Given the description of an element on the screen output the (x, y) to click on. 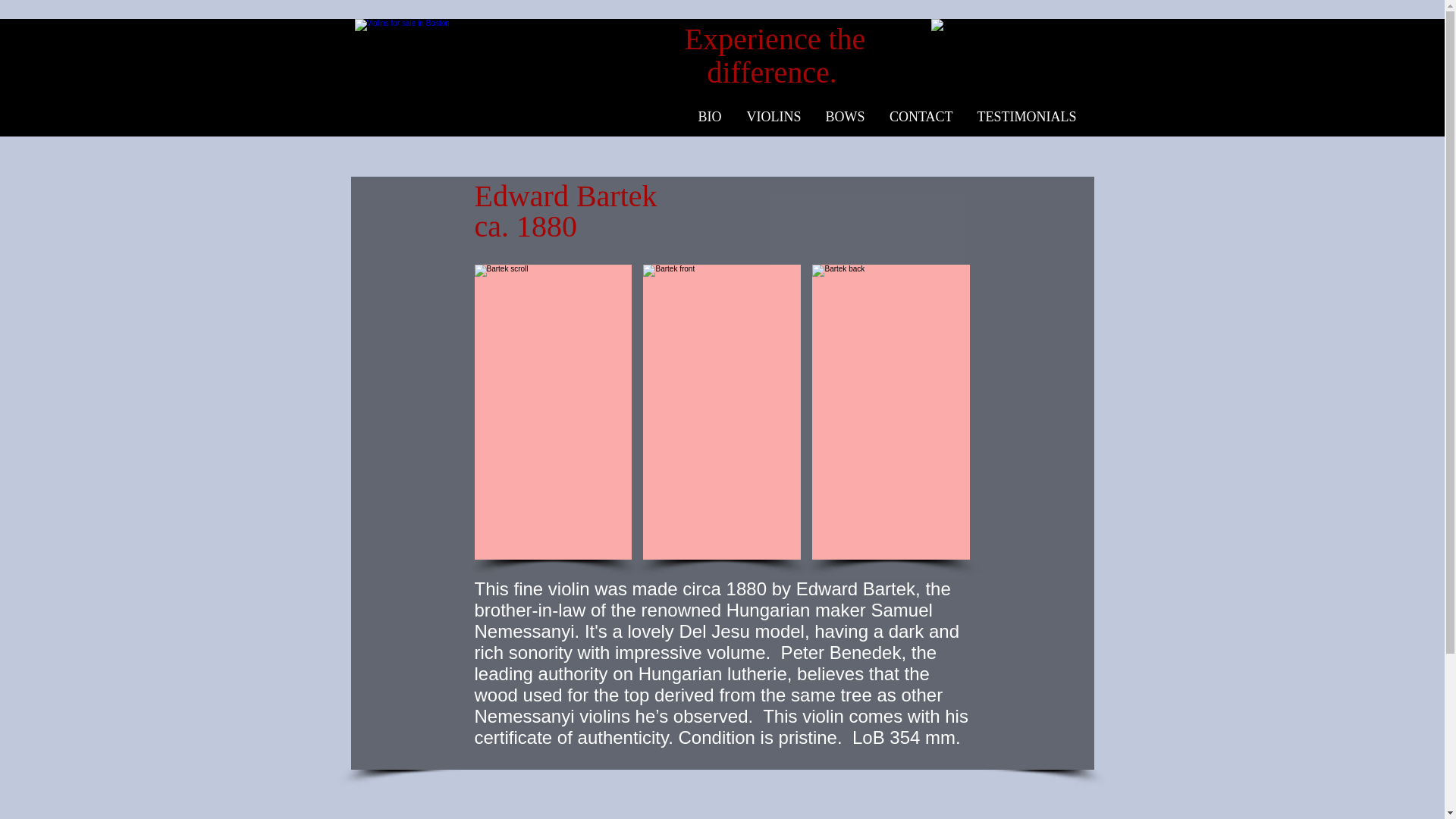
BOWS (844, 116)
Carnegie Hall (1016, 63)
VIOLINS (772, 116)
BIO (708, 116)
CONTACT (919, 116)
Vitale Violins Logo (500, 75)
TESTIMONIALS (1025, 116)
